Given the description of an element on the screen output the (x, y) to click on. 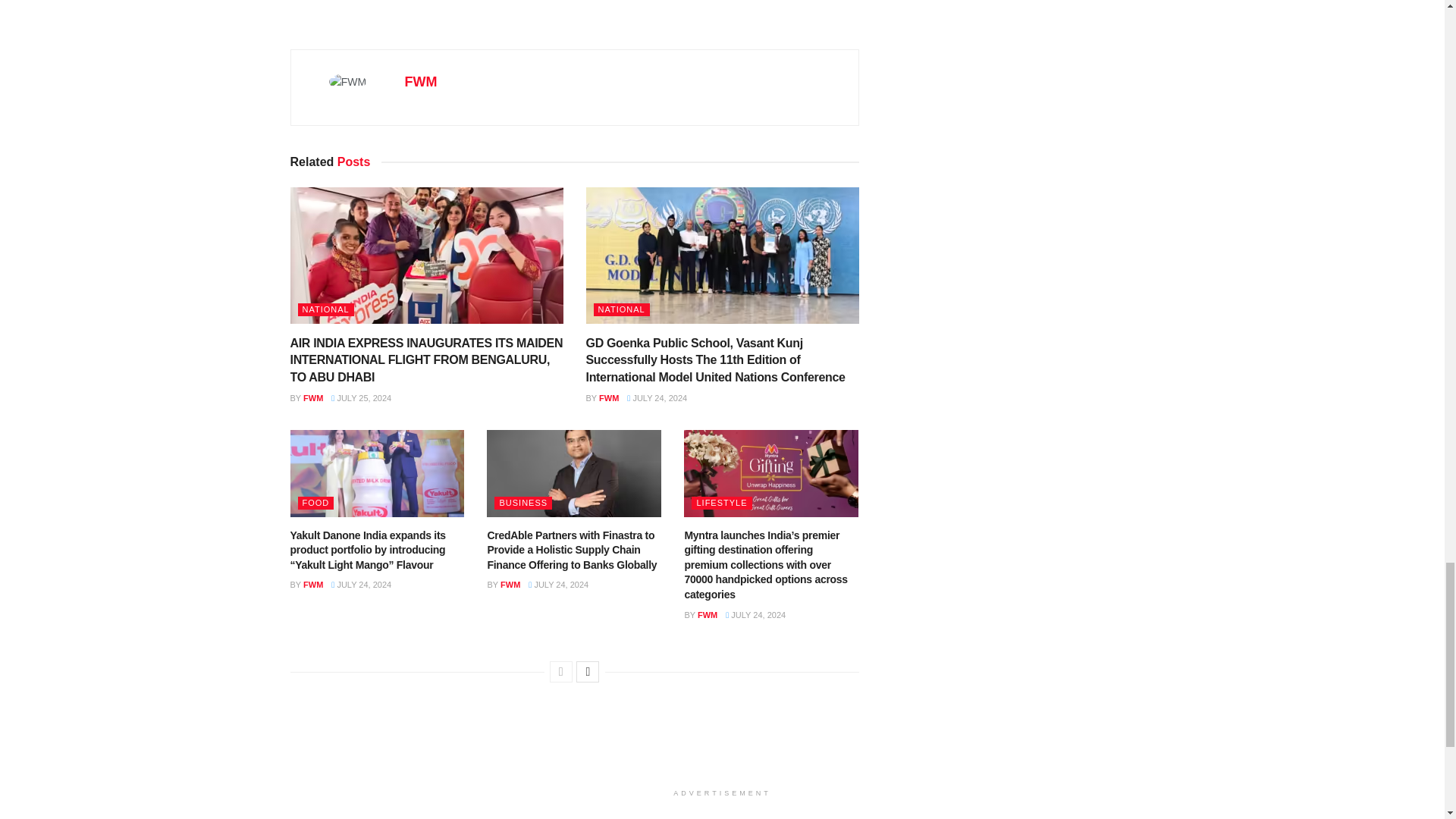
Previous (561, 671)
Next (587, 671)
